Given the description of an element on the screen output the (x, y) to click on. 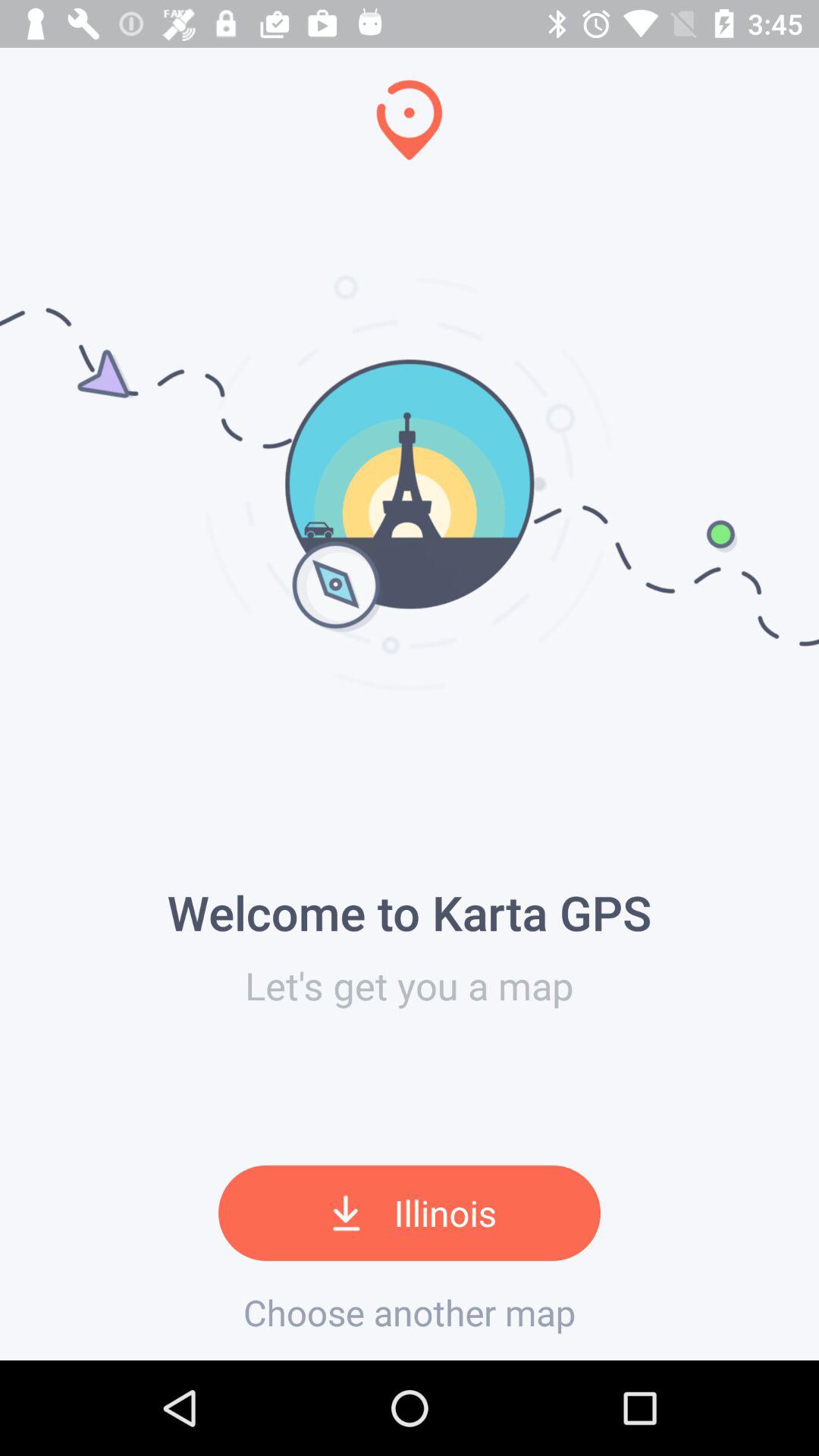
tap the icon next to the let s get (5, 680)
